Given the description of an element on the screen output the (x, y) to click on. 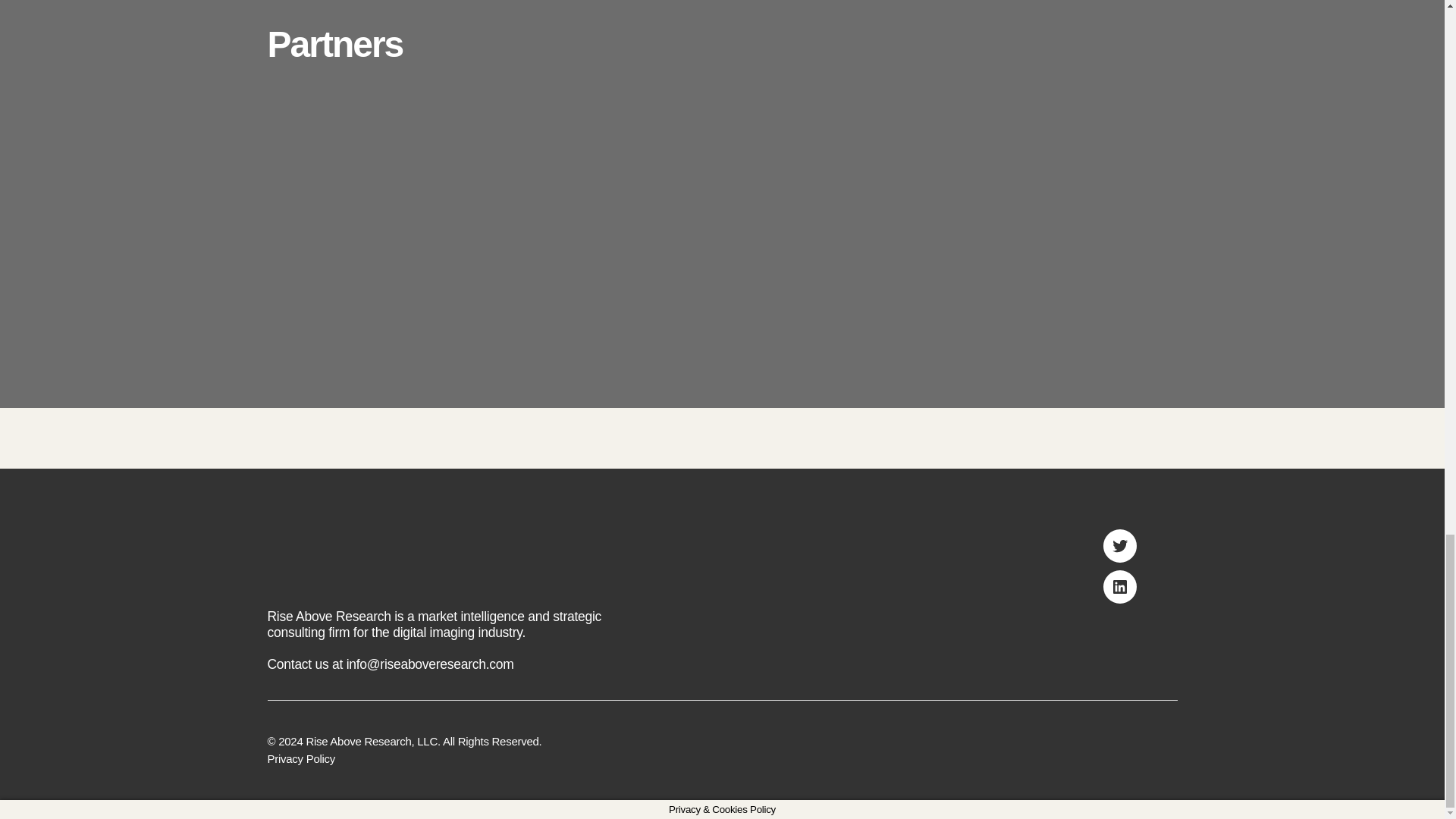
Rise Above Research (357, 740)
twitter (1118, 545)
Linkedin (1118, 586)
Privacy Policy (300, 758)
